Given the description of an element on the screen output the (x, y) to click on. 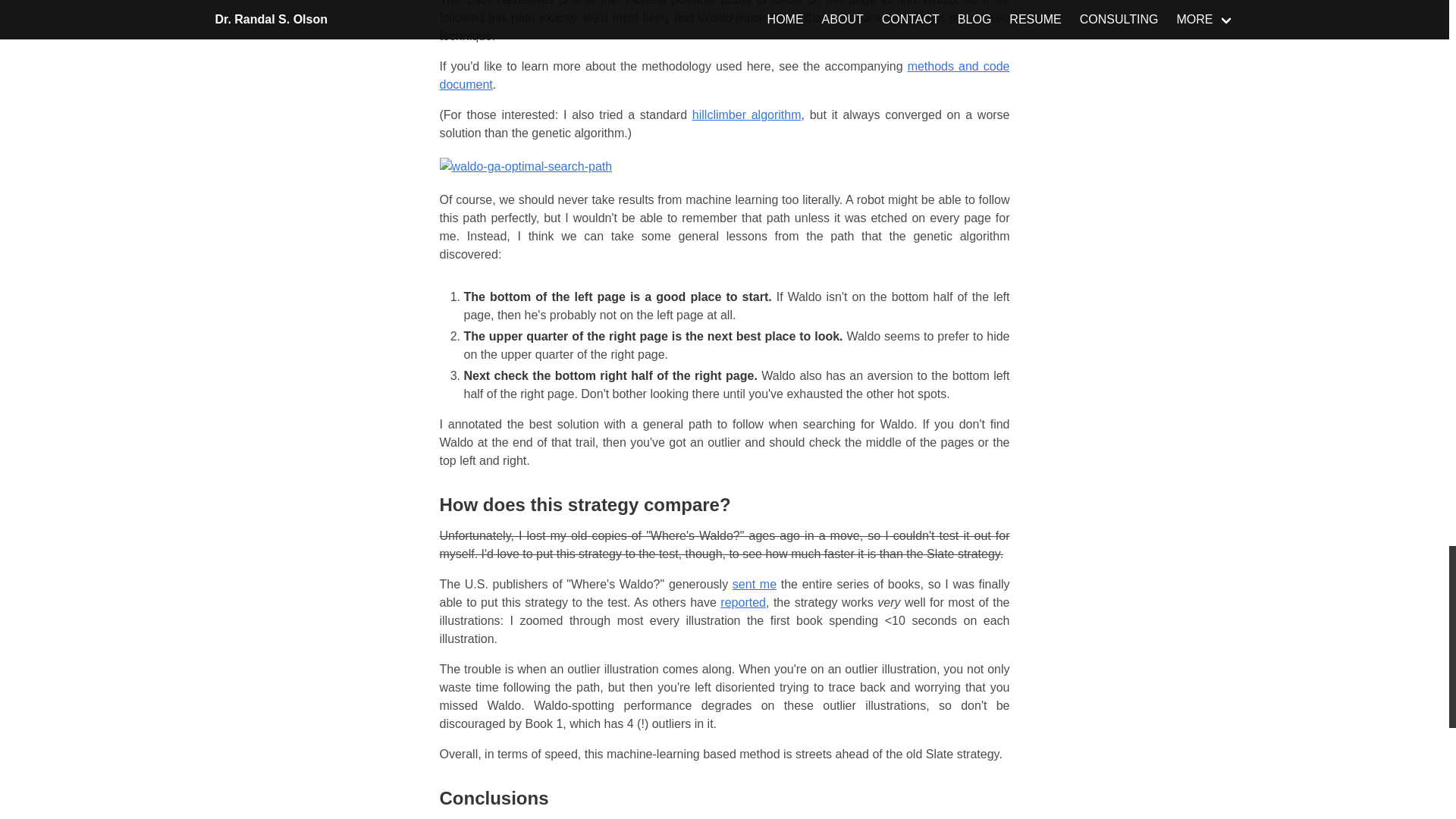
methods and code document (724, 74)
sent me (754, 584)
hillclimber algorithm (747, 114)
reported (742, 602)
